Given the description of an element on the screen output the (x, y) to click on. 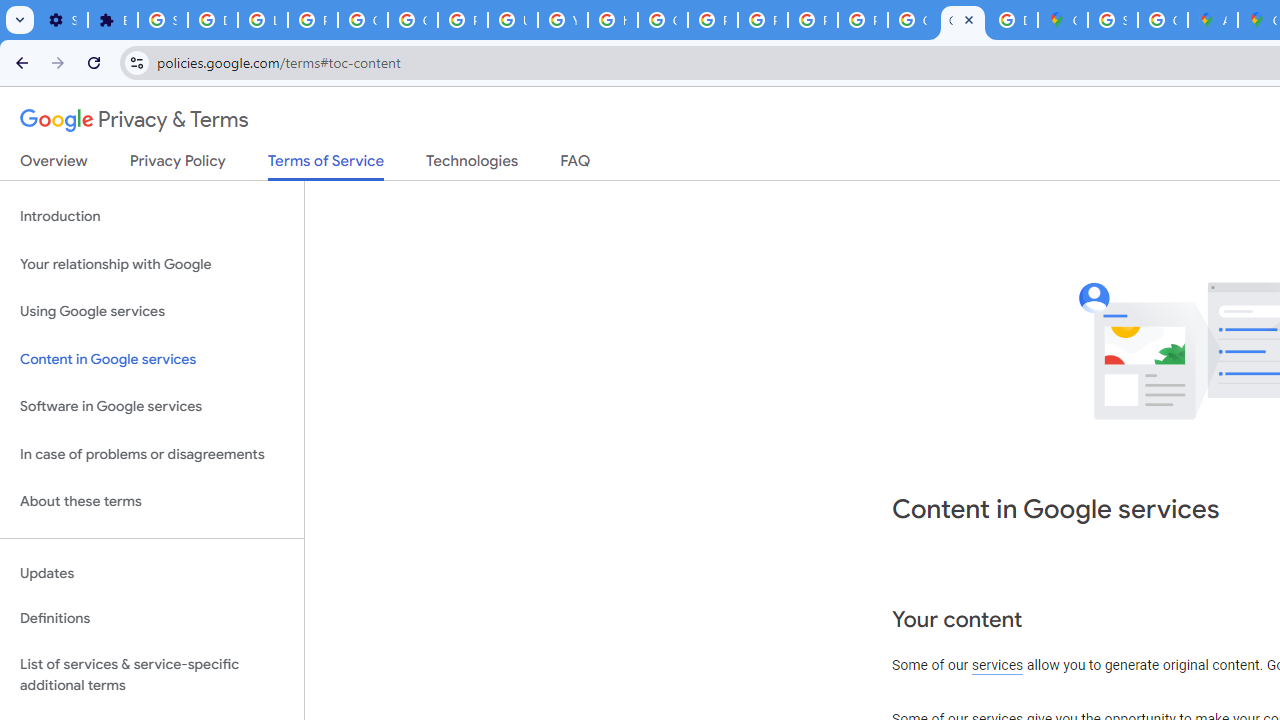
services (997, 666)
Technologies (472, 165)
